Given the description of an element on the screen output the (x, y) to click on. 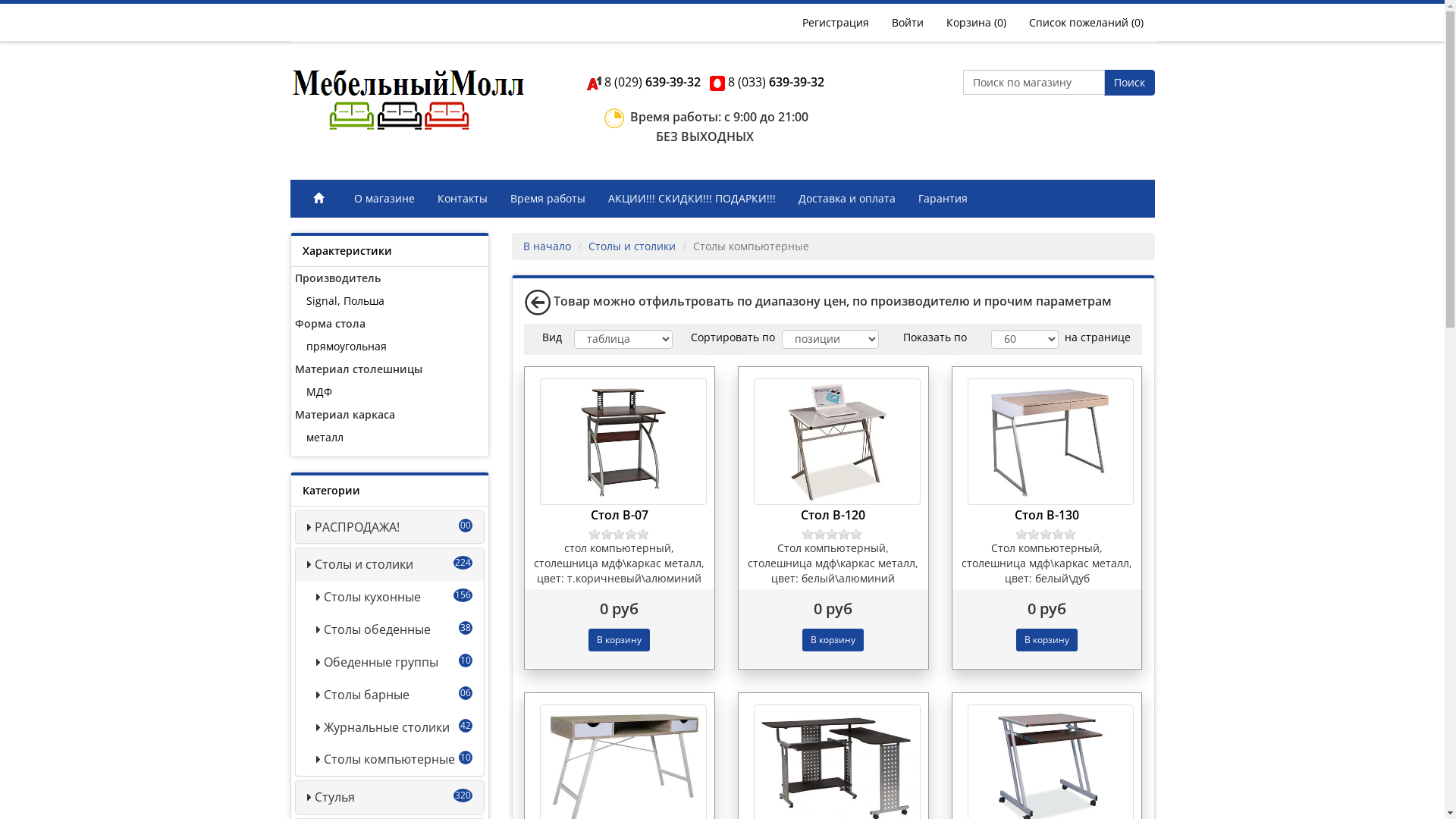
  Element type: text (406, 103)
